Given the description of an element on the screen output the (x, y) to click on. 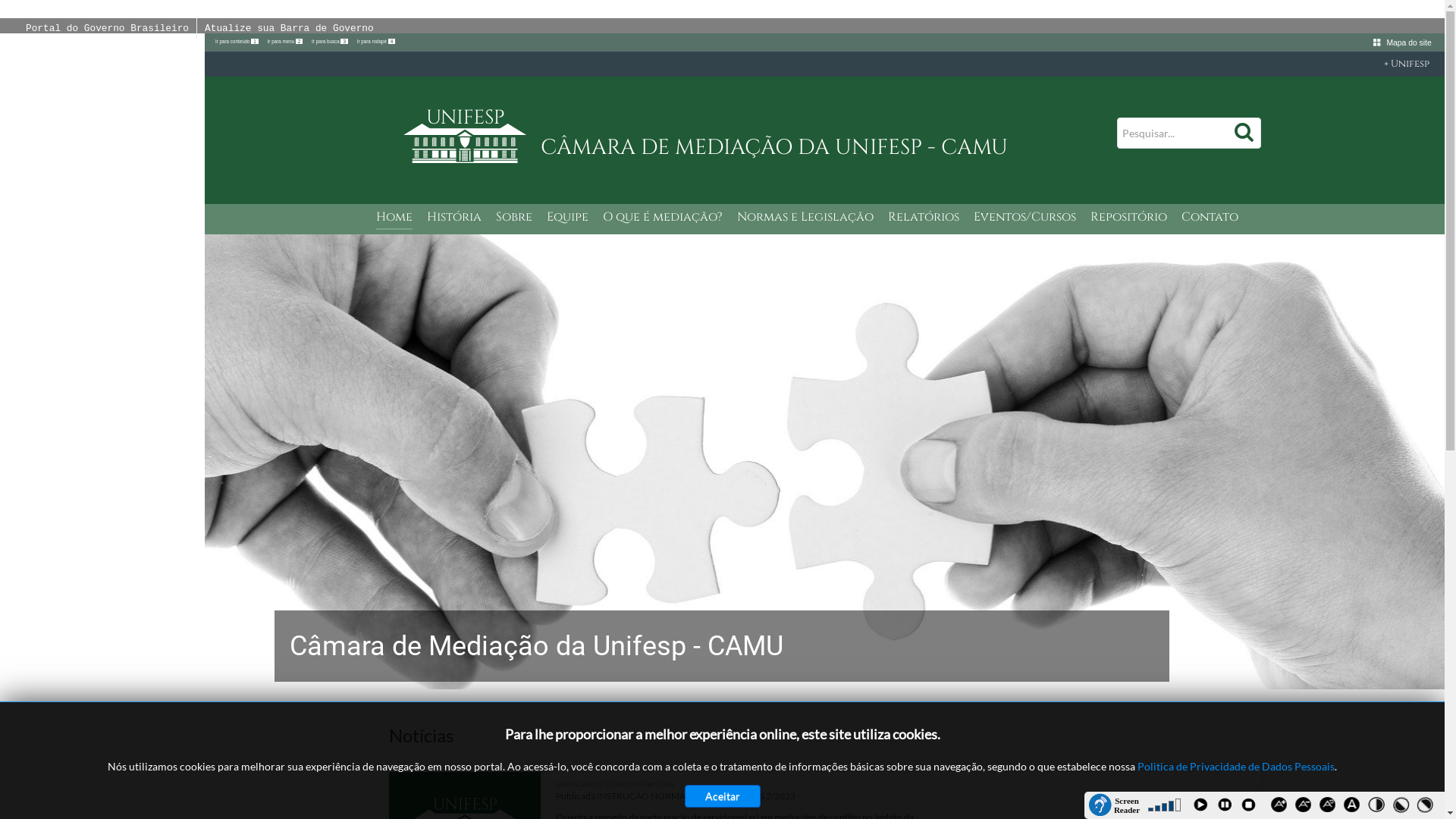
Atualize sua Barra de Governo Element type: text (288, 28)
Sobre Element type: text (513, 217)
Home Element type: text (394, 217)
Equipe Element type: text (567, 217)
Contato Element type: text (1209, 217)
Portal do Governo Brasileiro Element type: text (106, 28)
+ Unifesp Element type: text (824, 63)
Eventos/Cursos Element type: text (1024, 217)
Ir para busca 3 Element type: text (330, 40)
Politica de Privacidade de Dados Pessoais Element type: text (1235, 765)
on Element type: text (4, 4)
Ir para menu 2 Element type: text (285, 40)
 Mapa do site       Element type: text (1406, 42)
